Given the description of an element on the screen output the (x, y) to click on. 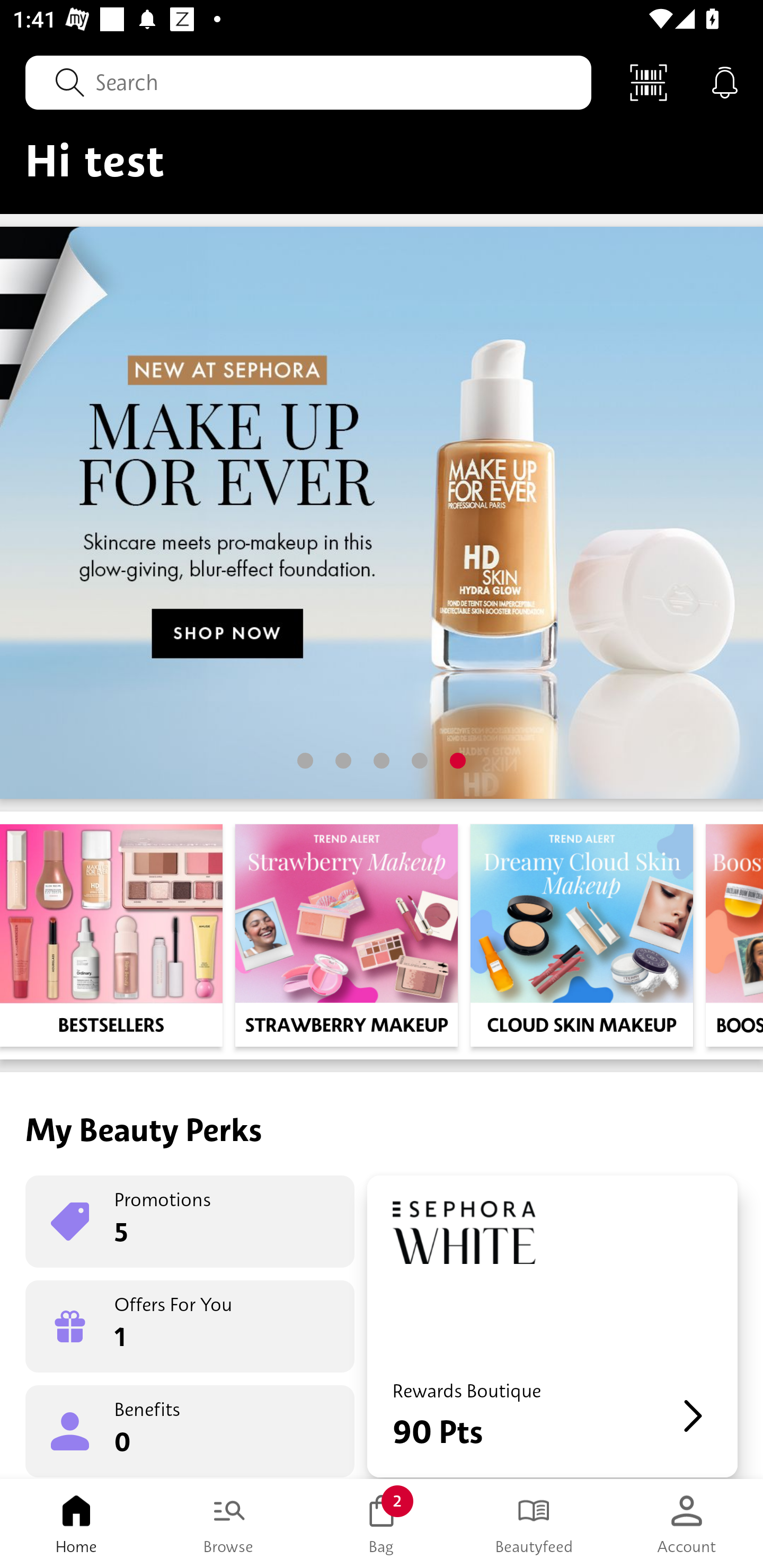
Scan Code (648, 81)
Notifications (724, 81)
Search (308, 81)
Promotions 5 (189, 1221)
Rewards Boutique 90 Pts (552, 1326)
Offers For You 1 (189, 1326)
Benefits 0 (189, 1430)
Browse (228, 1523)
Bag 2 Bag (381, 1523)
Beautyfeed (533, 1523)
Account (686, 1523)
